Given the description of an element on the screen output the (x, y) to click on. 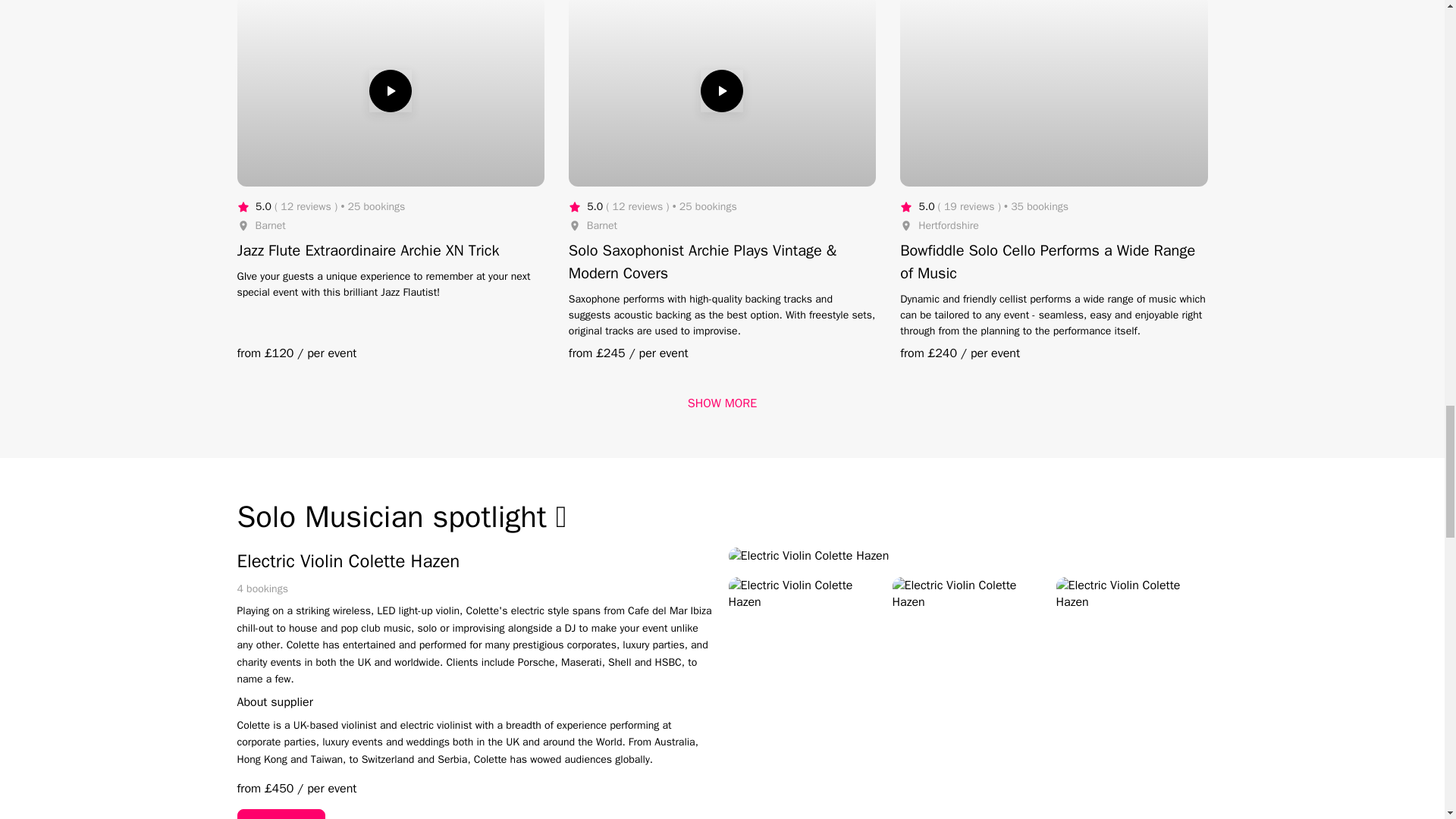
VIEW MORE (279, 814)
SHOW MORE (721, 402)
